Given the description of an element on the screen output the (x, y) to click on. 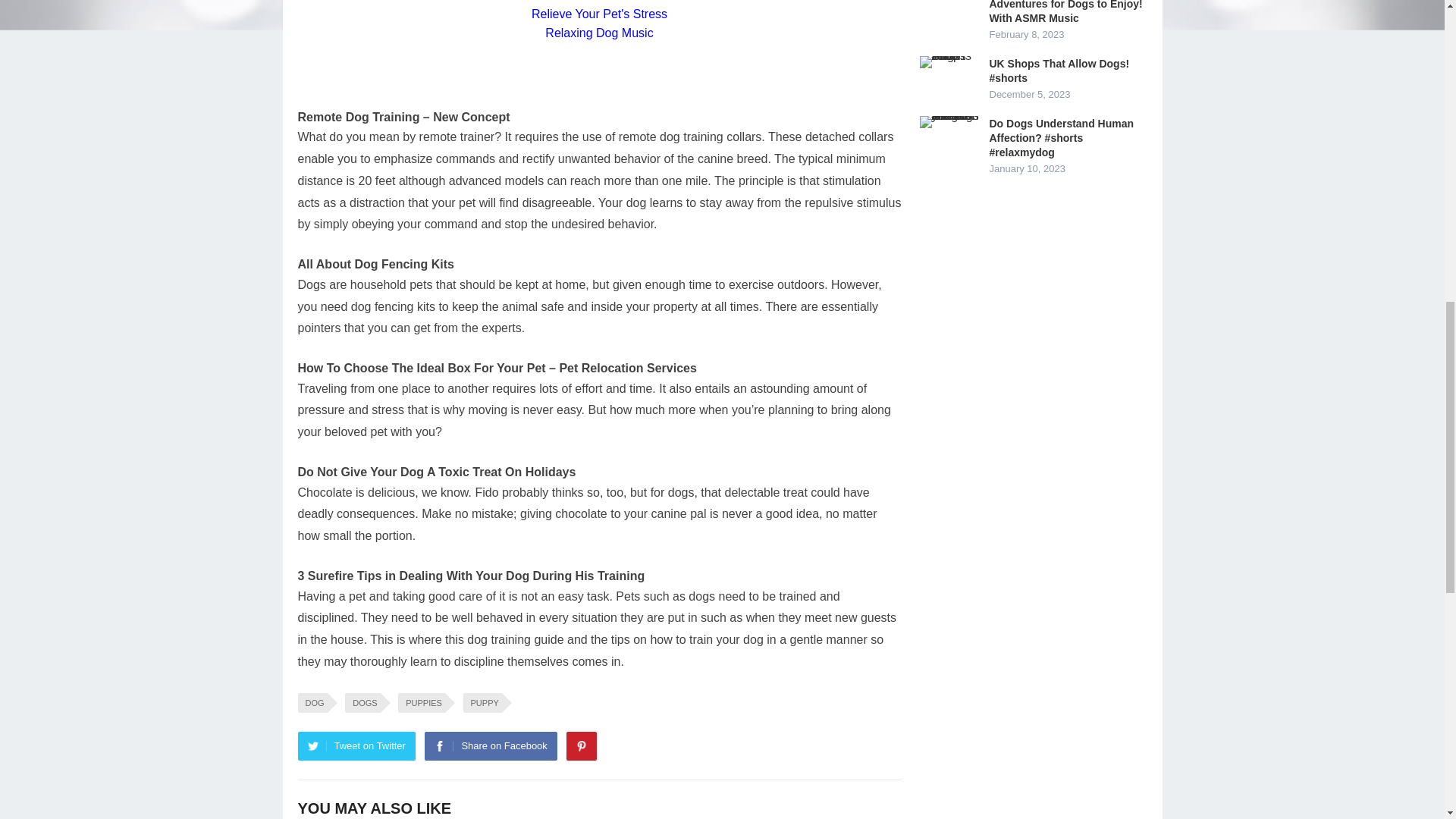
DOG (311, 702)
Relieve Your Pet's Stress (598, 13)
Relaxing Dog Music (598, 32)
